Given the description of an element on the screen output the (x, y) to click on. 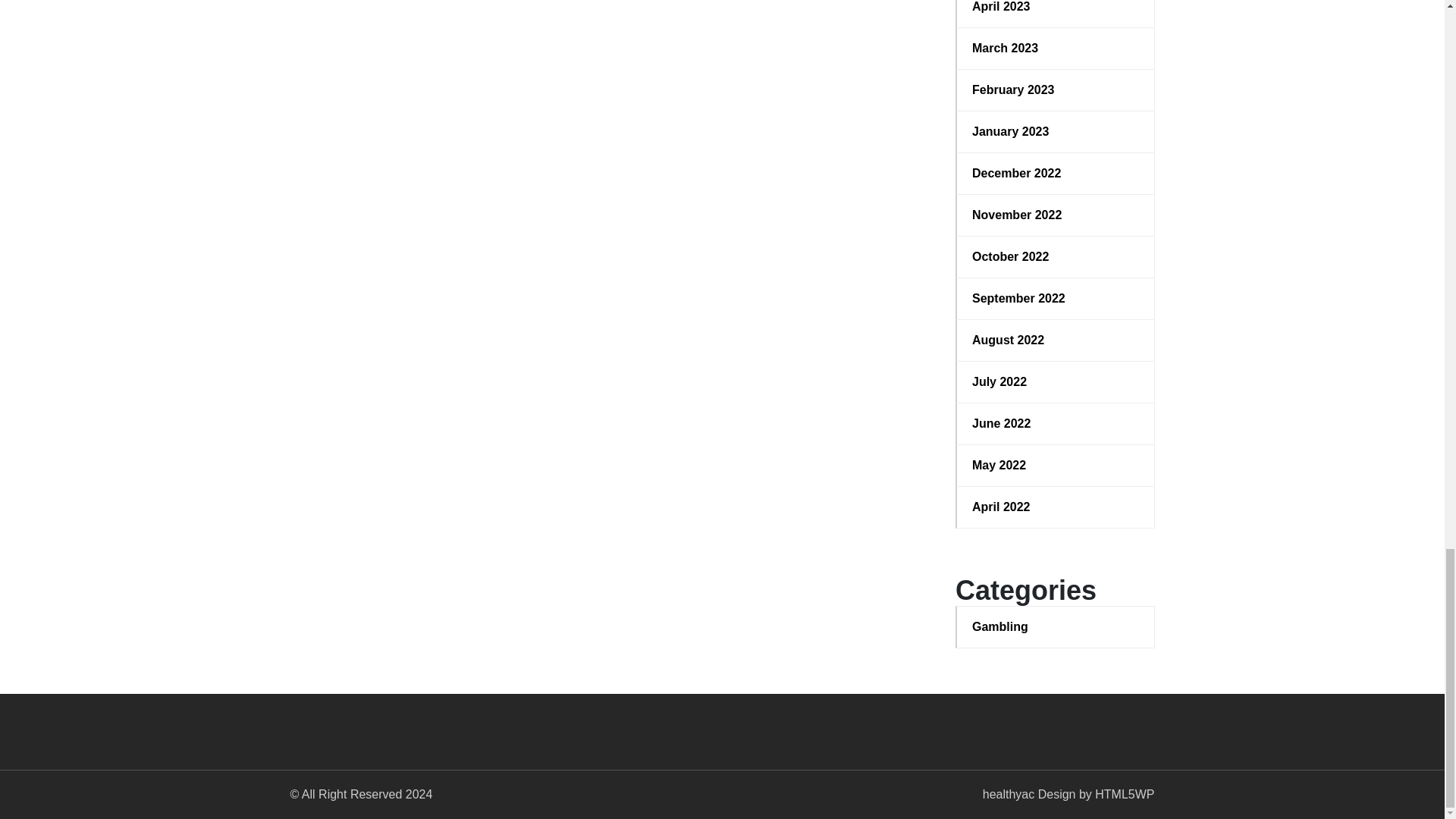
September 2022 (1055, 298)
March 2023 (1055, 48)
November 2022 (1055, 215)
December 2022 (1055, 173)
January 2023 (1055, 131)
August 2022 (1055, 340)
April 2023 (1055, 7)
February 2023 (1055, 90)
October 2022 (1055, 257)
